Given the description of an element on the screen output the (x, y) to click on. 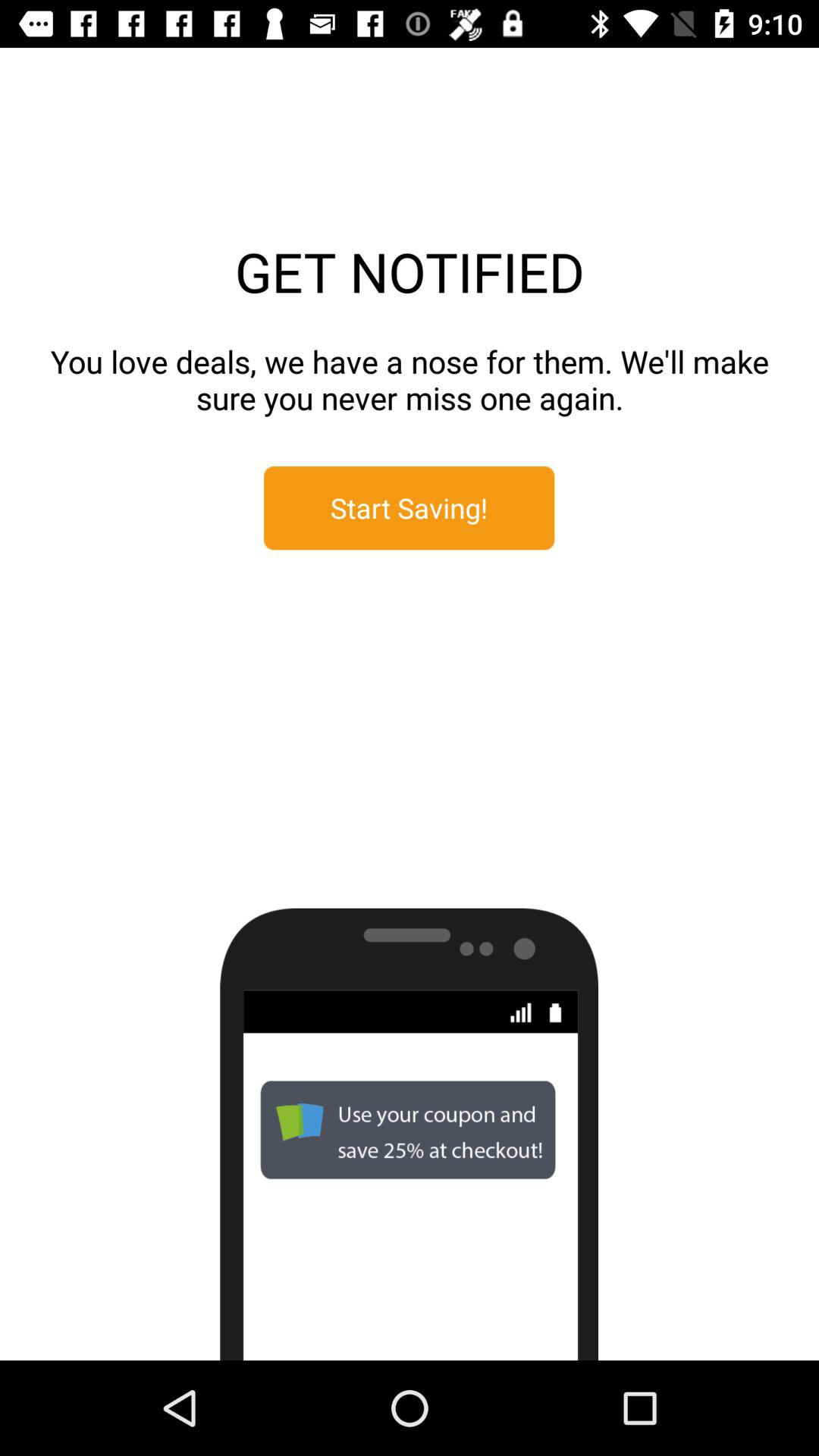
launch icon at the center (408, 507)
